Given the description of an element on the screen output the (x, y) to click on. 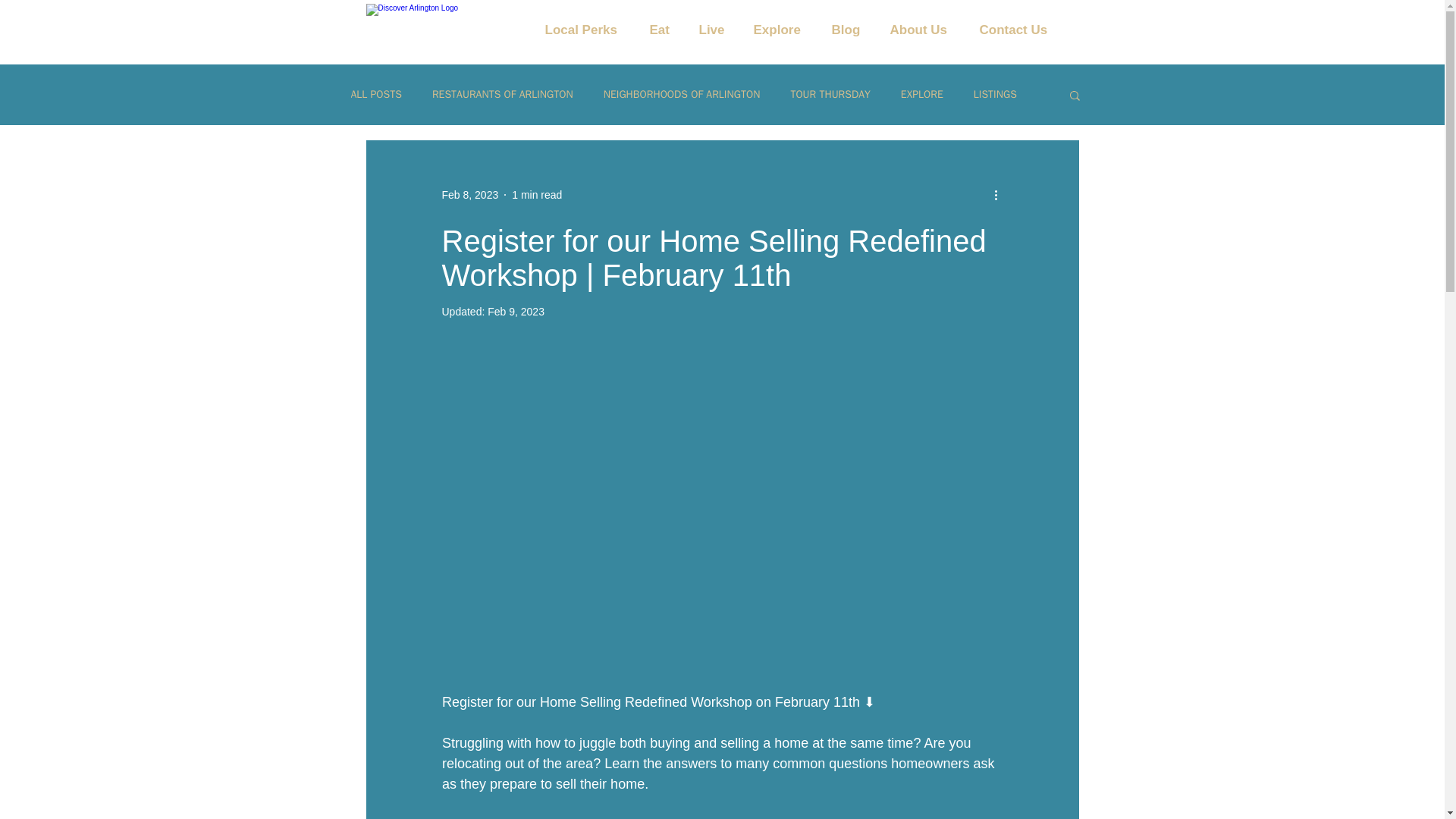
Explore (784, 30)
RESTAURANTS OF ARLINGTON (502, 94)
Blog (853, 30)
Eat (666, 30)
Contact Us (1021, 30)
TOUR THURSDAY (829, 94)
NEIGHBORHOODS OF ARLINGTON (682, 94)
EXPLORE (922, 94)
LISTINGS (995, 94)
Local Perks (589, 30)
Feb 9, 2023 (515, 311)
About Us (927, 30)
Live (718, 30)
ALL POSTS (375, 94)
1 min read (537, 193)
